Given the description of an element on the screen output the (x, y) to click on. 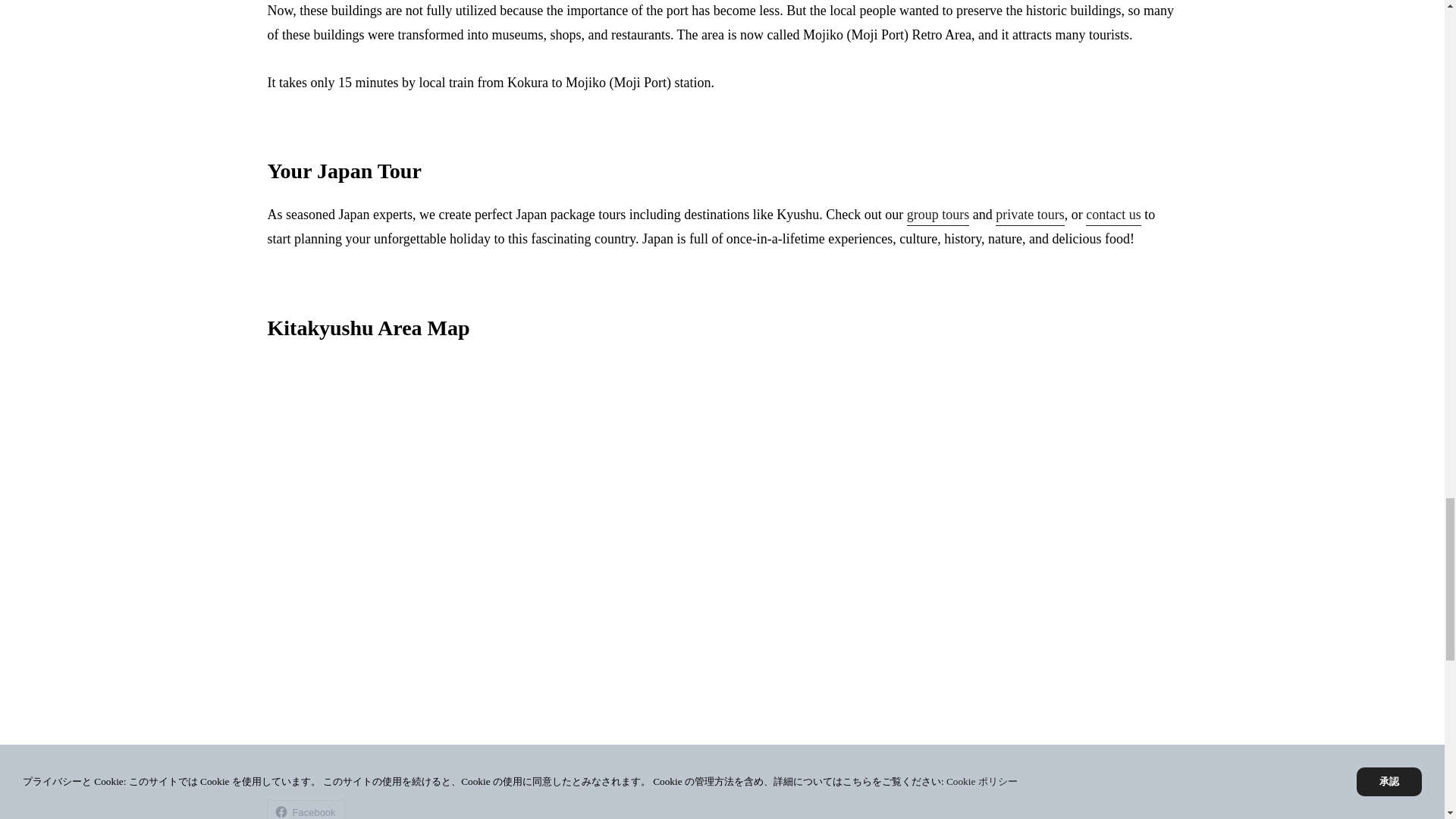
Click to share on Facebook (304, 809)
group tours (938, 216)
private tours (1029, 216)
Facebook (304, 809)
contact us (1113, 216)
